Given the description of an element on the screen output the (x, y) to click on. 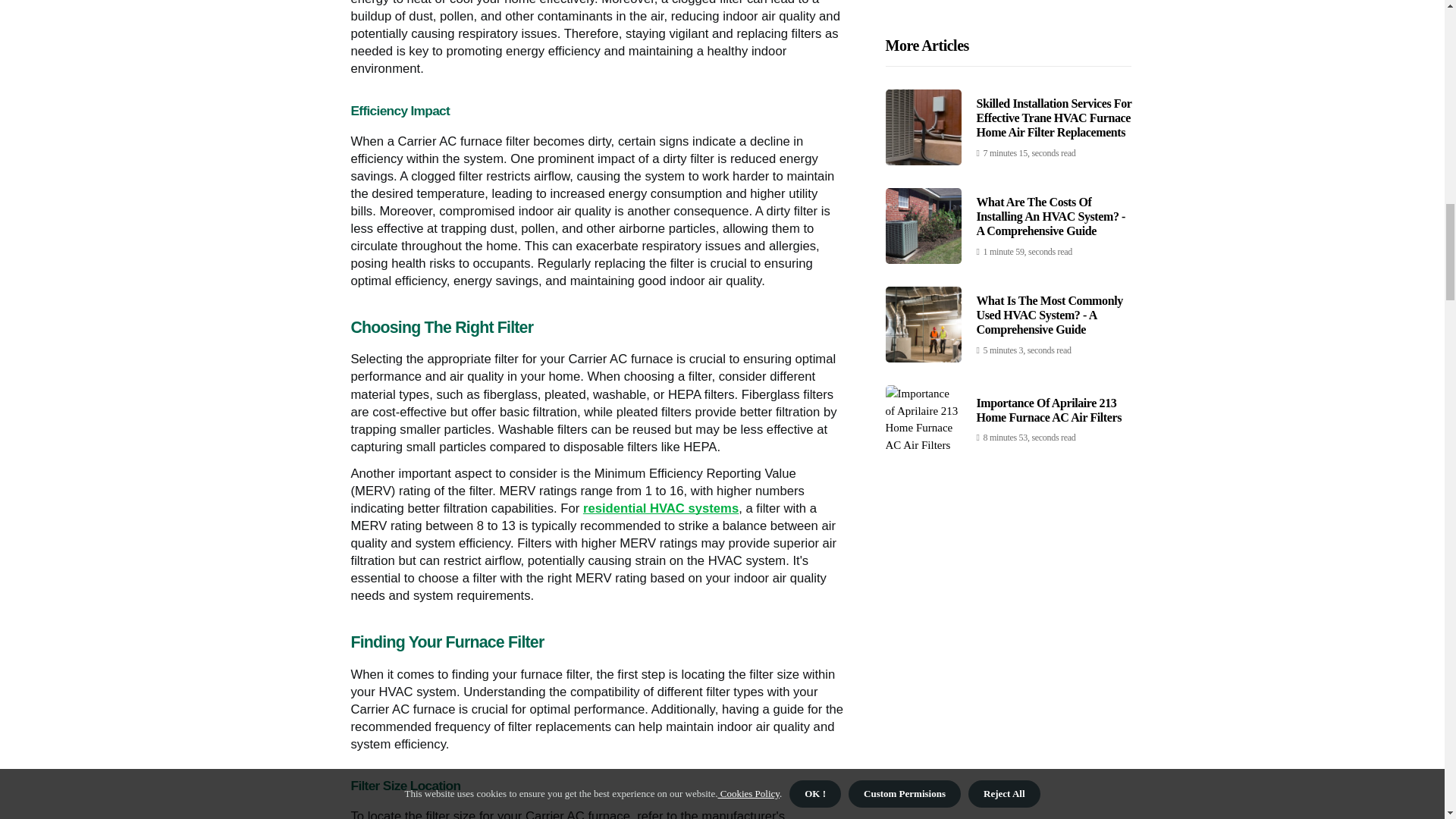
residential HVAC systems (660, 508)
